Given the description of an element on the screen output the (x, y) to click on. 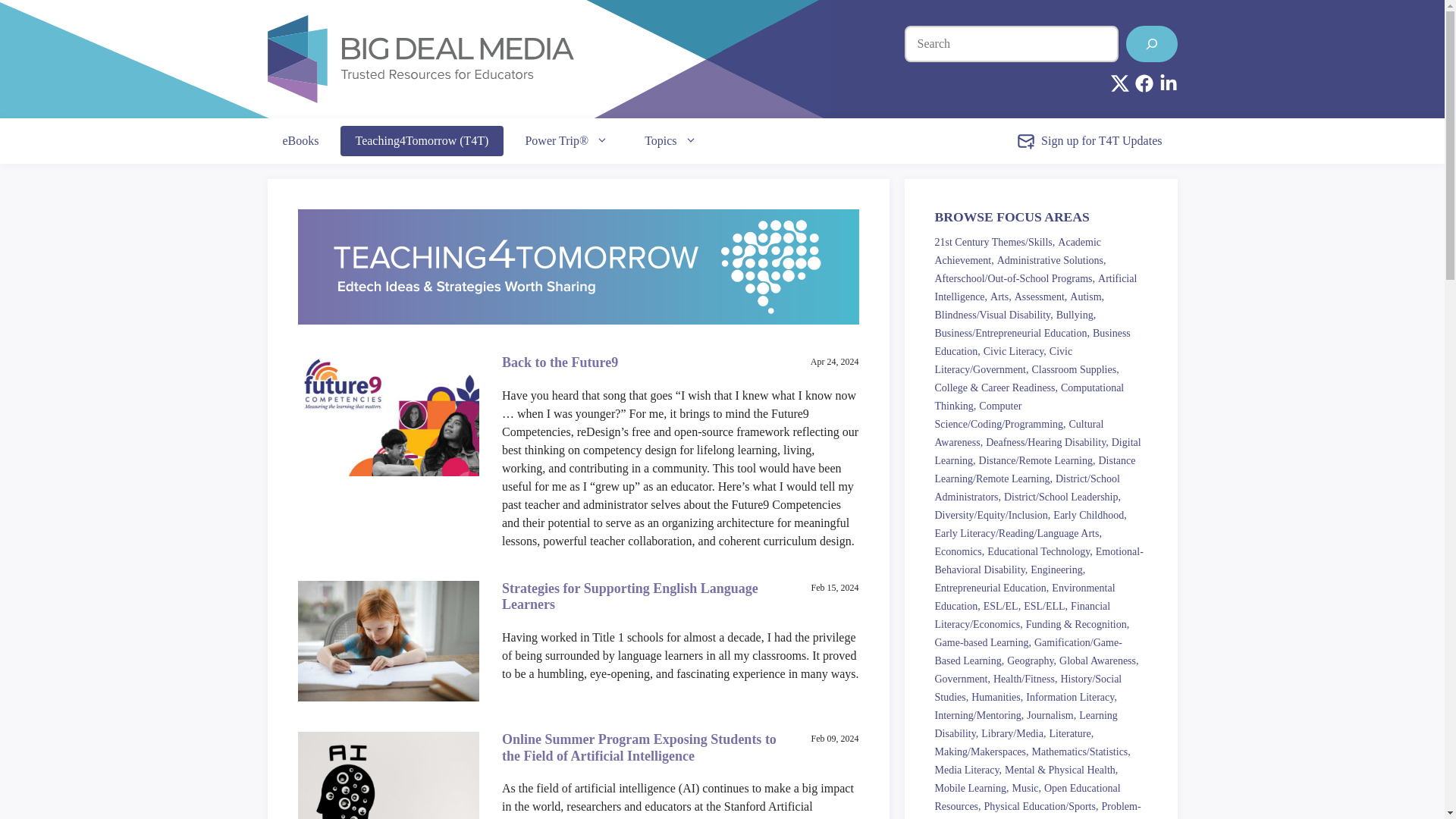
Topics (669, 141)
X (1118, 83)
Strategies for Supporting English Language Learners (630, 596)
Teaching4Tomorrow (578, 266)
X (1118, 83)
Sign up for T4T Updates (1088, 141)
Back to the Future9 (559, 362)
eBooks (299, 141)
